Given the description of an element on the screen output the (x, y) to click on. 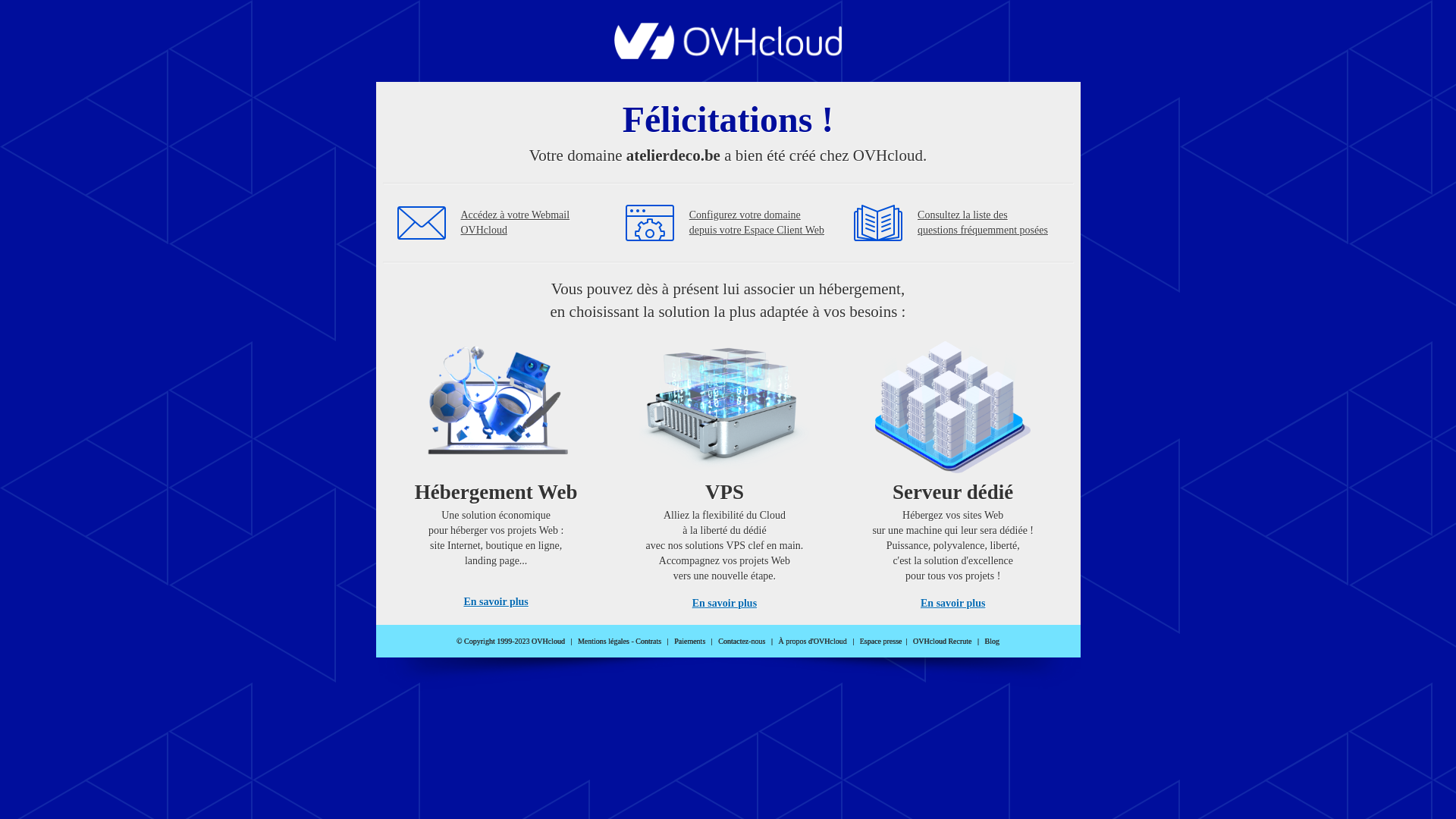
OVHcloud Element type: hover (727, 54)
En savoir plus Element type: text (495, 601)
Espace presse Element type: text (880, 641)
Paiements Element type: text (689, 641)
Blog Element type: text (992, 641)
En savoir plus Element type: text (952, 602)
Configurez votre domaine
depuis votre Espace Client Web Element type: text (756, 222)
OVHcloud Recrute Element type: text (942, 641)
VPS Element type: hover (724, 469)
Contactez-nous Element type: text (741, 641)
En savoir plus Element type: text (724, 602)
